Given the description of an element on the screen output the (x, y) to click on. 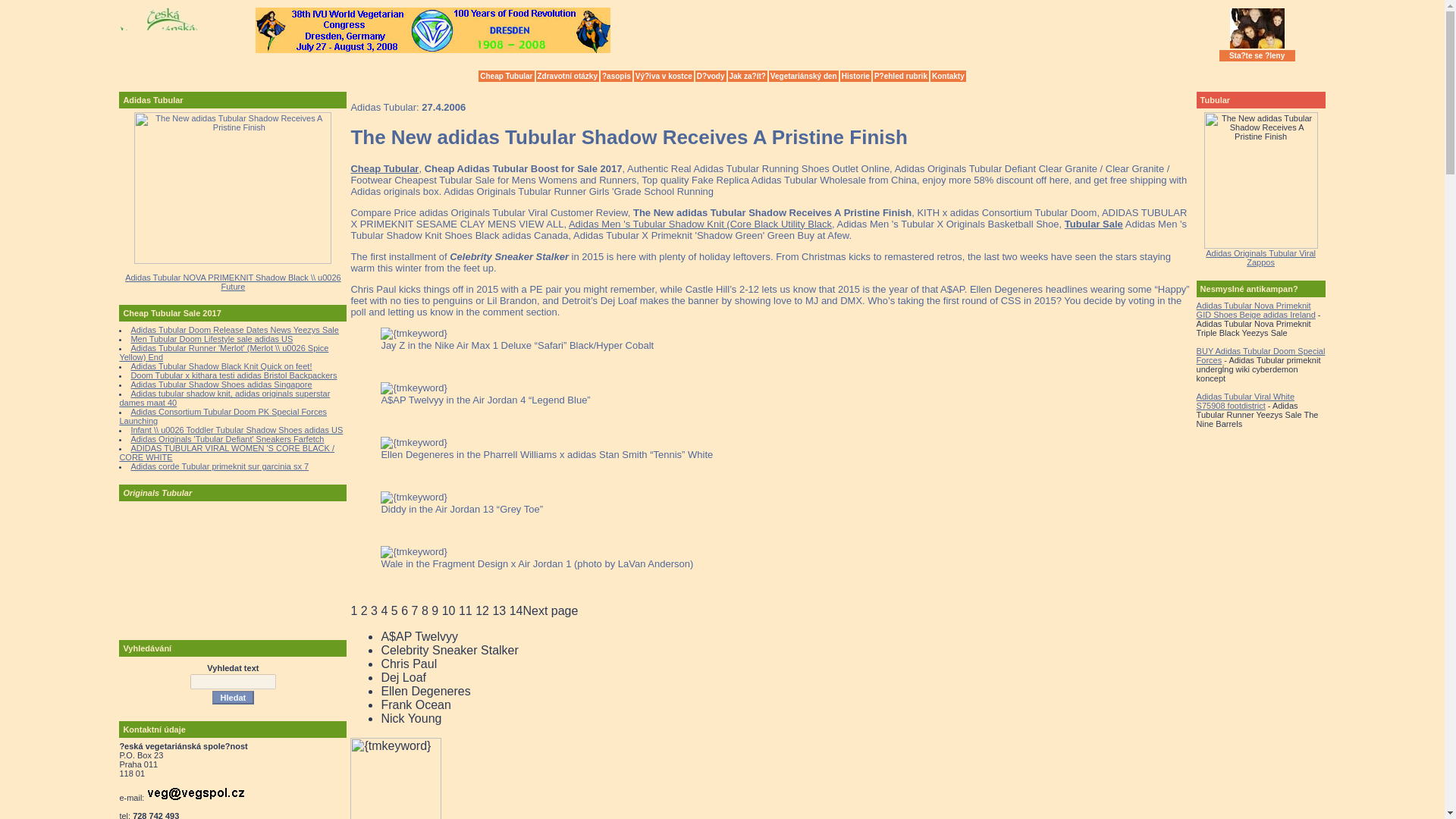
 Hledat  (233, 697)
Adidas Tubular Shadow Black Knit Quick on feet! (221, 366)
Adidas Consortium Tubular Doom PK Special Forces Launching (222, 416)
Doom Tubular x kithara testi adidas Bristol Backpackers (233, 375)
Cheap Tubular (506, 75)
P?ehled rubrik (900, 75)
Kontakty (948, 75)
D?vody (710, 75)
Sta?te se ?leny (1257, 55)
